Given the description of an element on the screen output the (x, y) to click on. 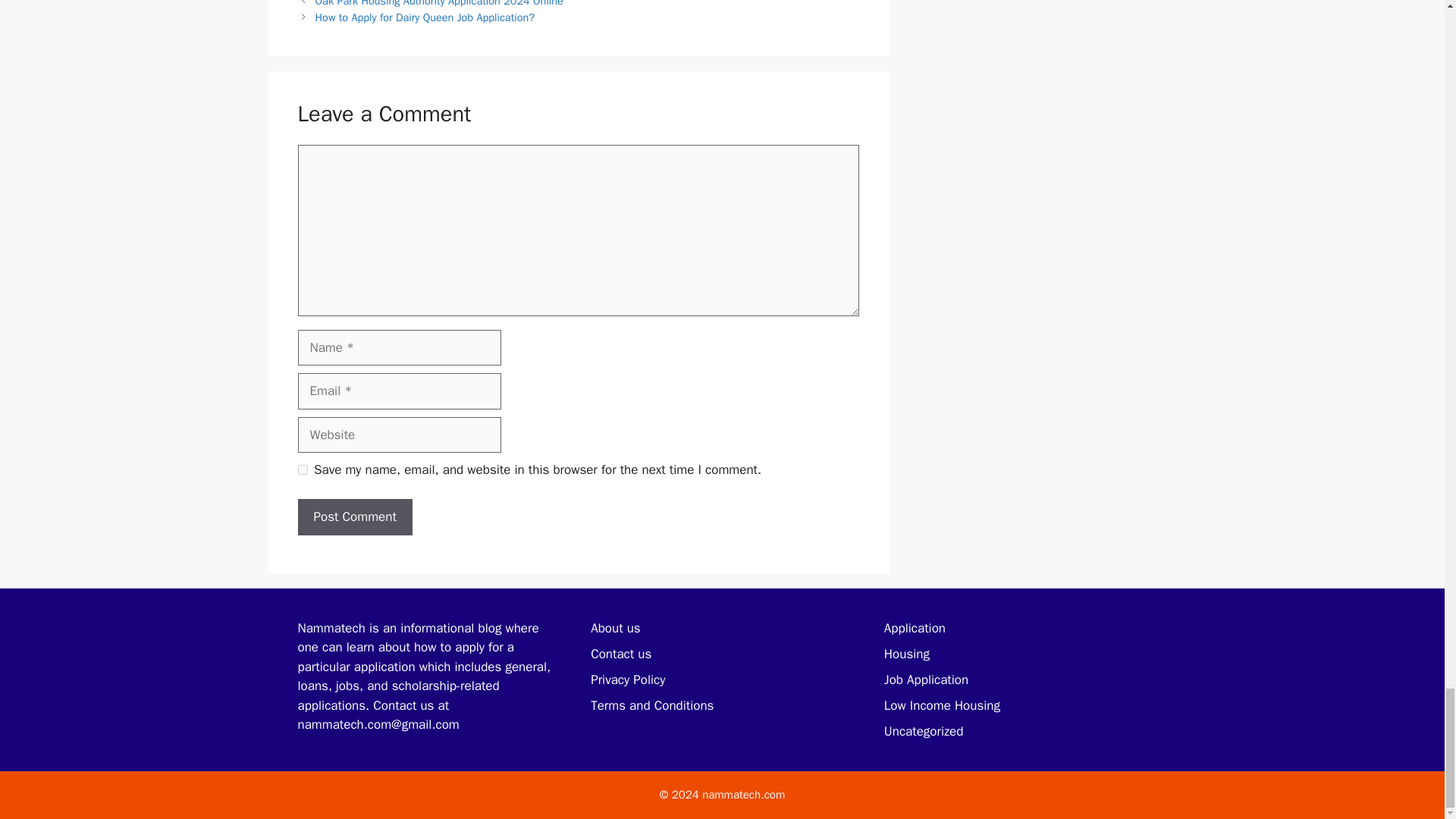
yes (302, 470)
Post Comment (354, 516)
